Given the description of an element on the screen output the (x, y) to click on. 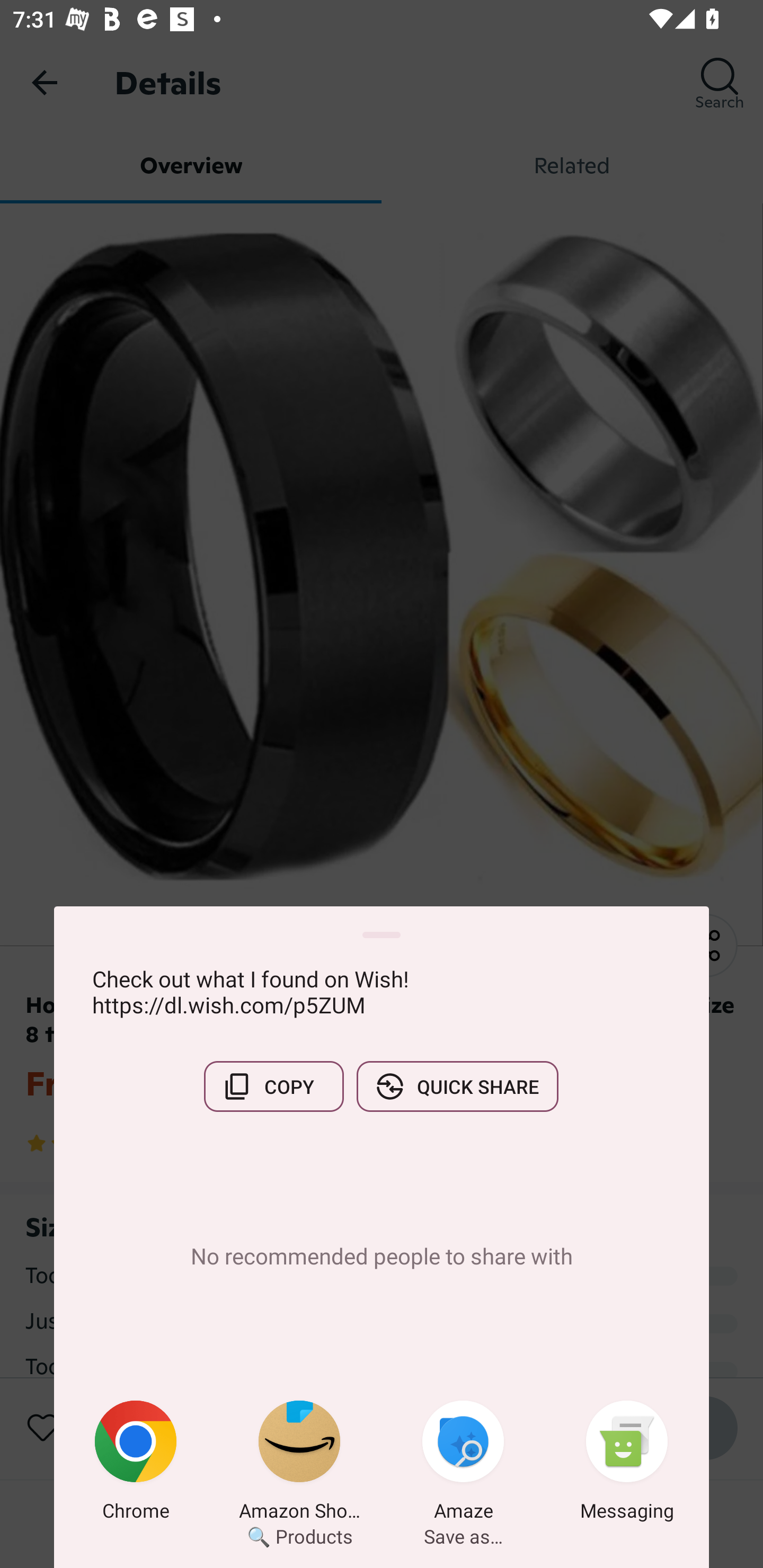
COPY (273, 1086)
QUICK SHARE (457, 1086)
Chrome (135, 1463)
Amazon Shopping 🔍 Products (299, 1463)
Amaze Save as… (463, 1463)
Messaging (626, 1463)
